Given the description of an element on the screen output the (x, y) to click on. 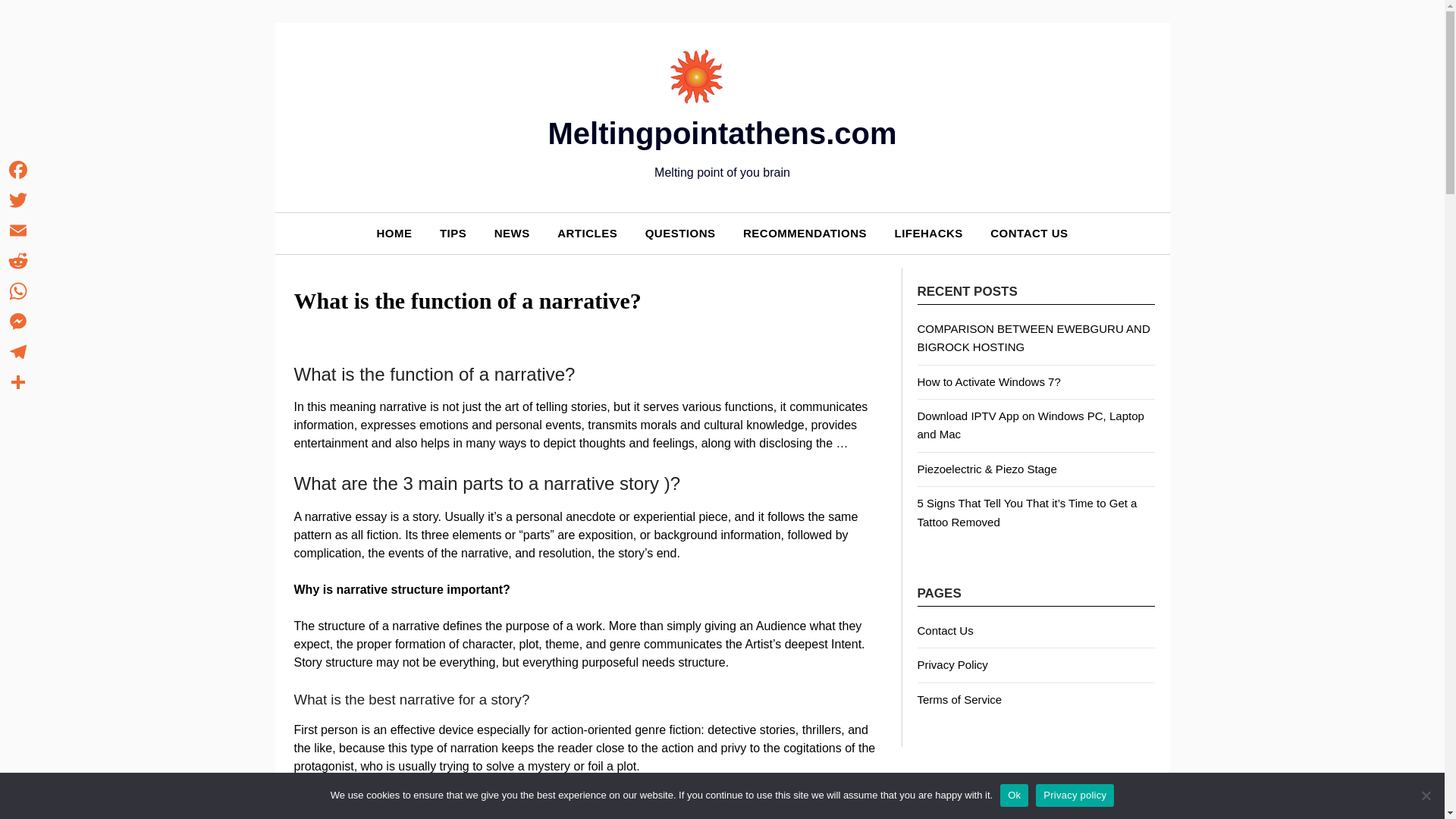
Terms of Service (960, 698)
TIPS (453, 232)
Reddit (17, 260)
Twitter (17, 200)
CONTACT US (1029, 232)
Download IPTV App on Windows PC, Laptop and Mac (1030, 424)
COMPARISON BETWEEN EWEBGURU AND BIGROCK HOSTING (1033, 337)
Messenger (17, 321)
Email (17, 230)
Privacy Policy (952, 664)
